Given the description of an element on the screen output the (x, y) to click on. 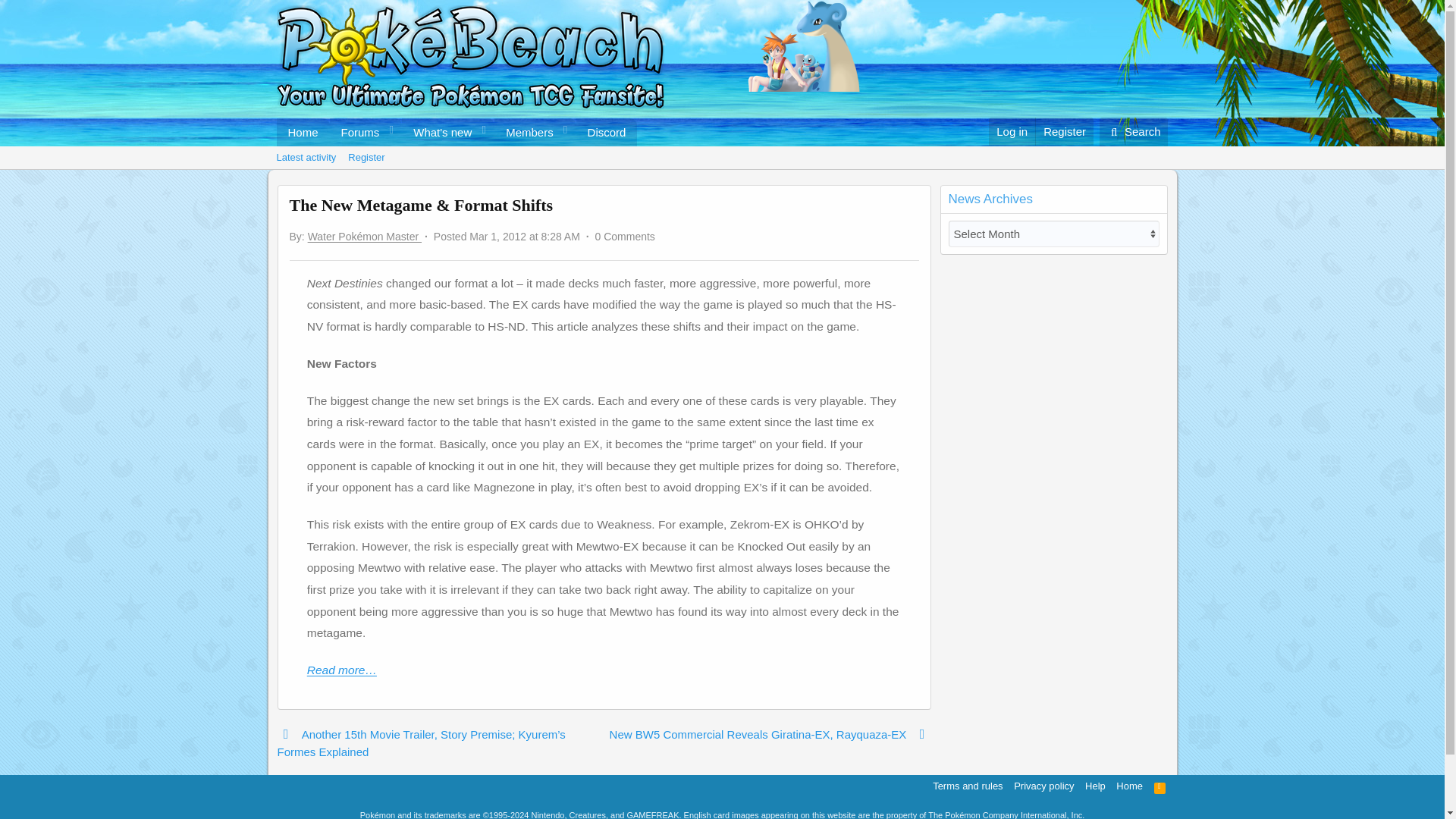
What's new (437, 131)
New BW5 Commercial Reveals Giratina-EX, Rayquaza-EX (770, 742)
0 Comments (625, 236)
Log in (1011, 131)
RSS (1160, 785)
Discord (606, 131)
Home (302, 131)
Mar 1, 2012 at 8:28 AM (523, 236)
Forums (355, 131)
Latest activity (305, 157)
